Given the description of an element on the screen output the (x, y) to click on. 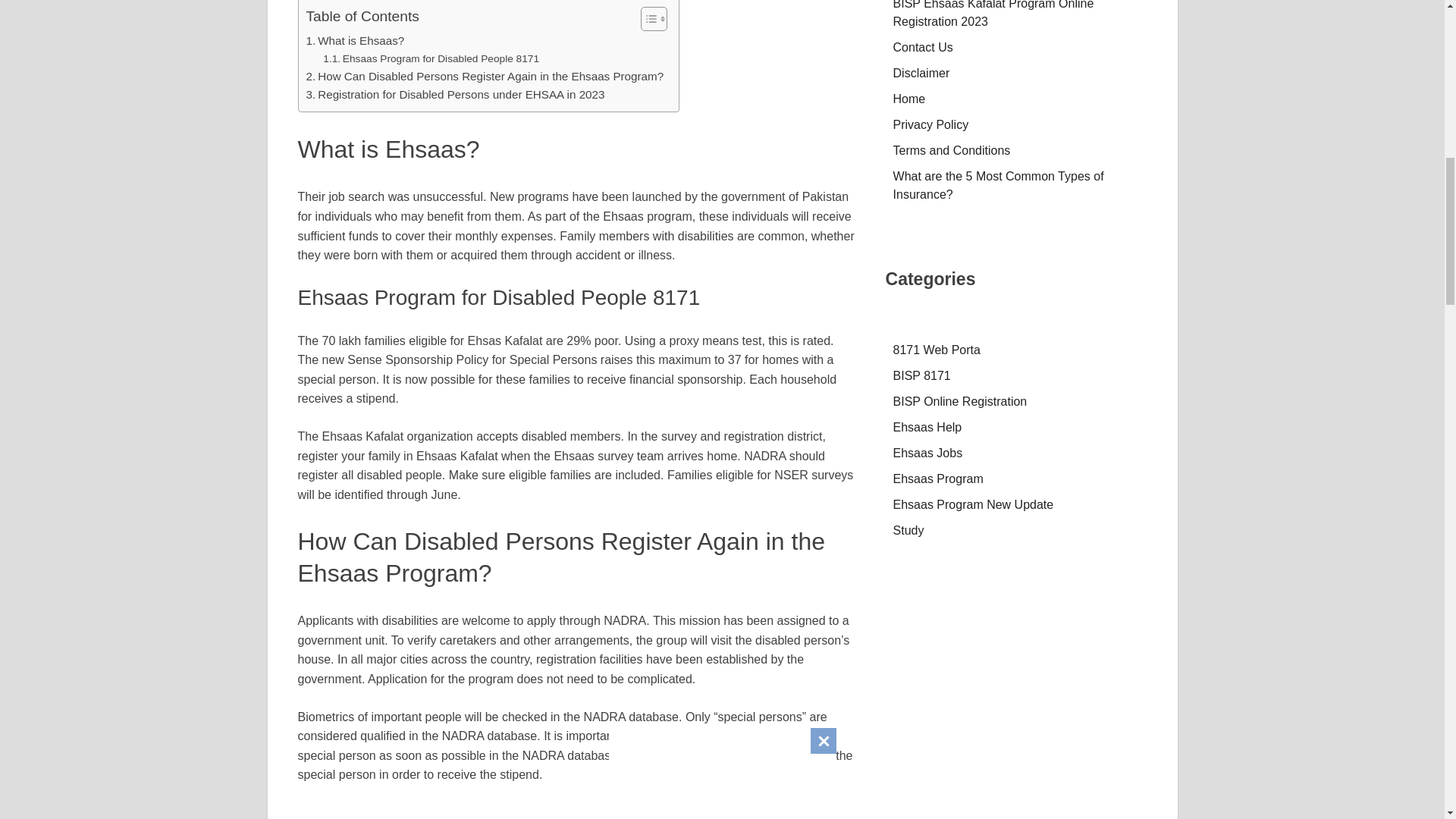
Registration for Disabled Persons under EHSAA in 2023 (455, 94)
What is Ehsaas? (354, 40)
Ehsaas Program for Disabled People 8171 (430, 58)
What is Ehsaas? (354, 40)
Registration for Disabled Persons under EHSAA in 2023 (455, 94)
Ehsaas Program for Disabled People 8171 (430, 58)
